Given the description of an element on the screen output the (x, y) to click on. 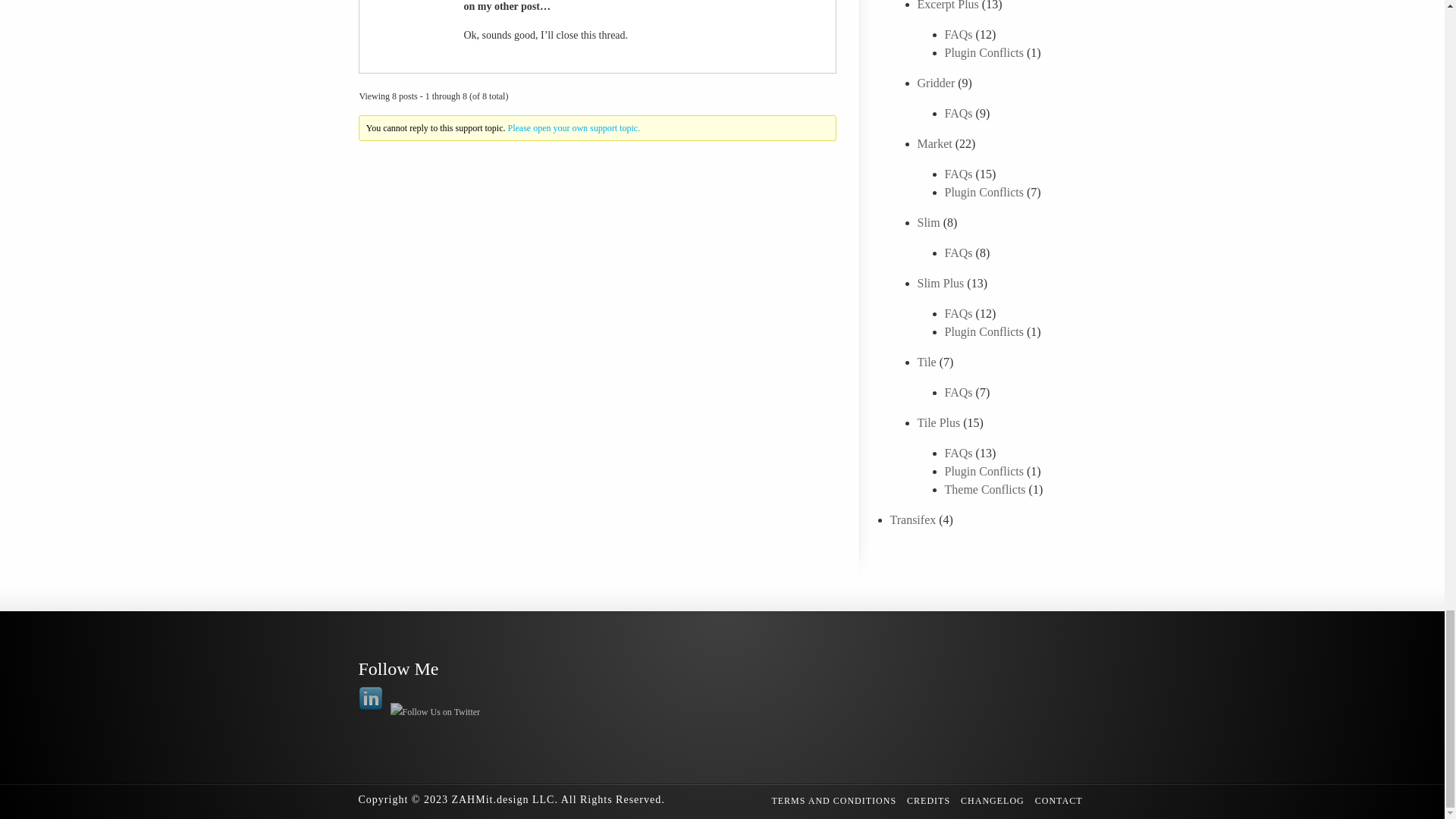
Follow Us on Twitter (435, 711)
Follow Us on LinkedIn (369, 699)
